Given the description of an element on the screen output the (x, y) to click on. 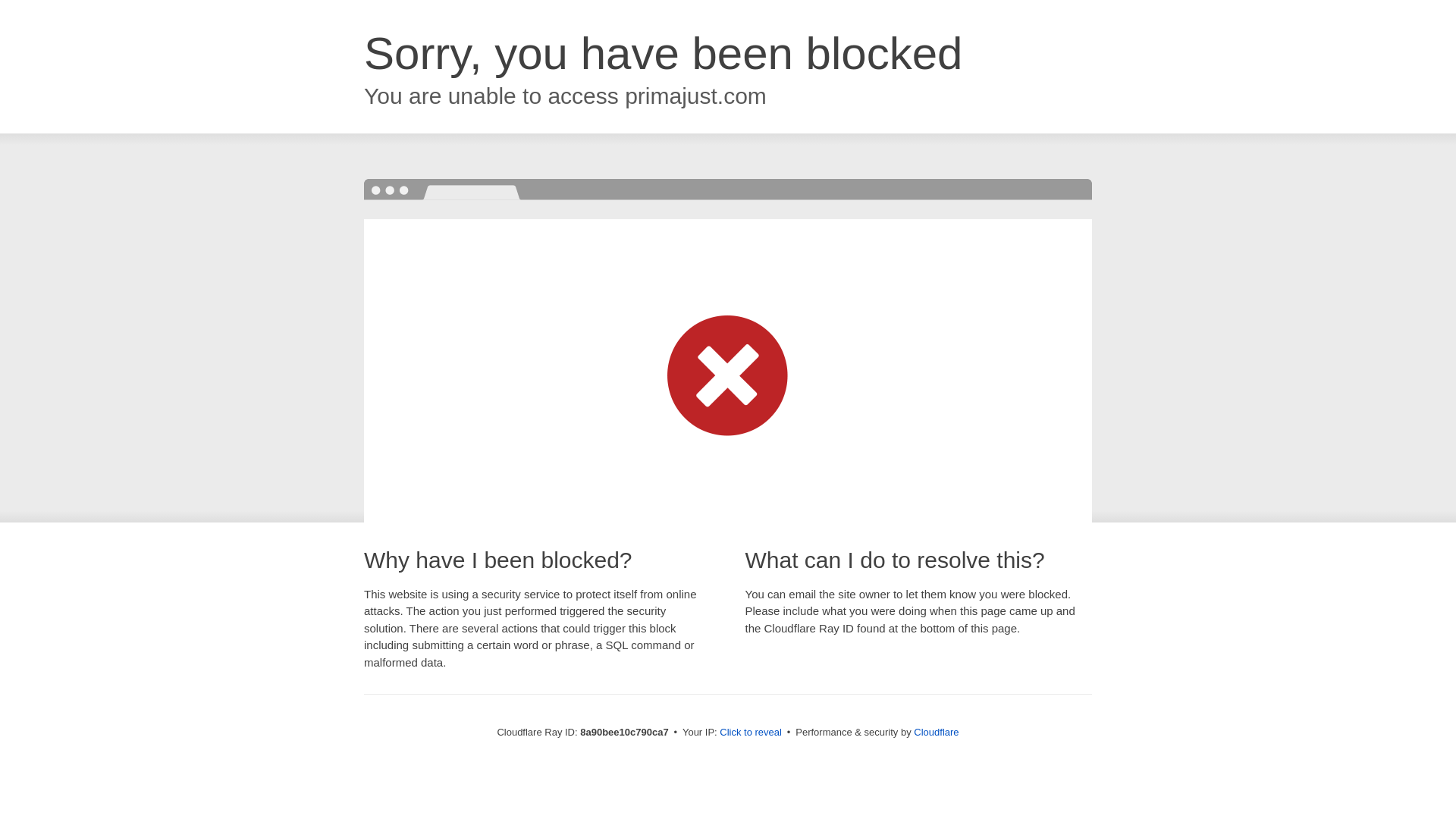
Cloudflare (936, 731)
Click to reveal (750, 732)
